Given the description of an element on the screen output the (x, y) to click on. 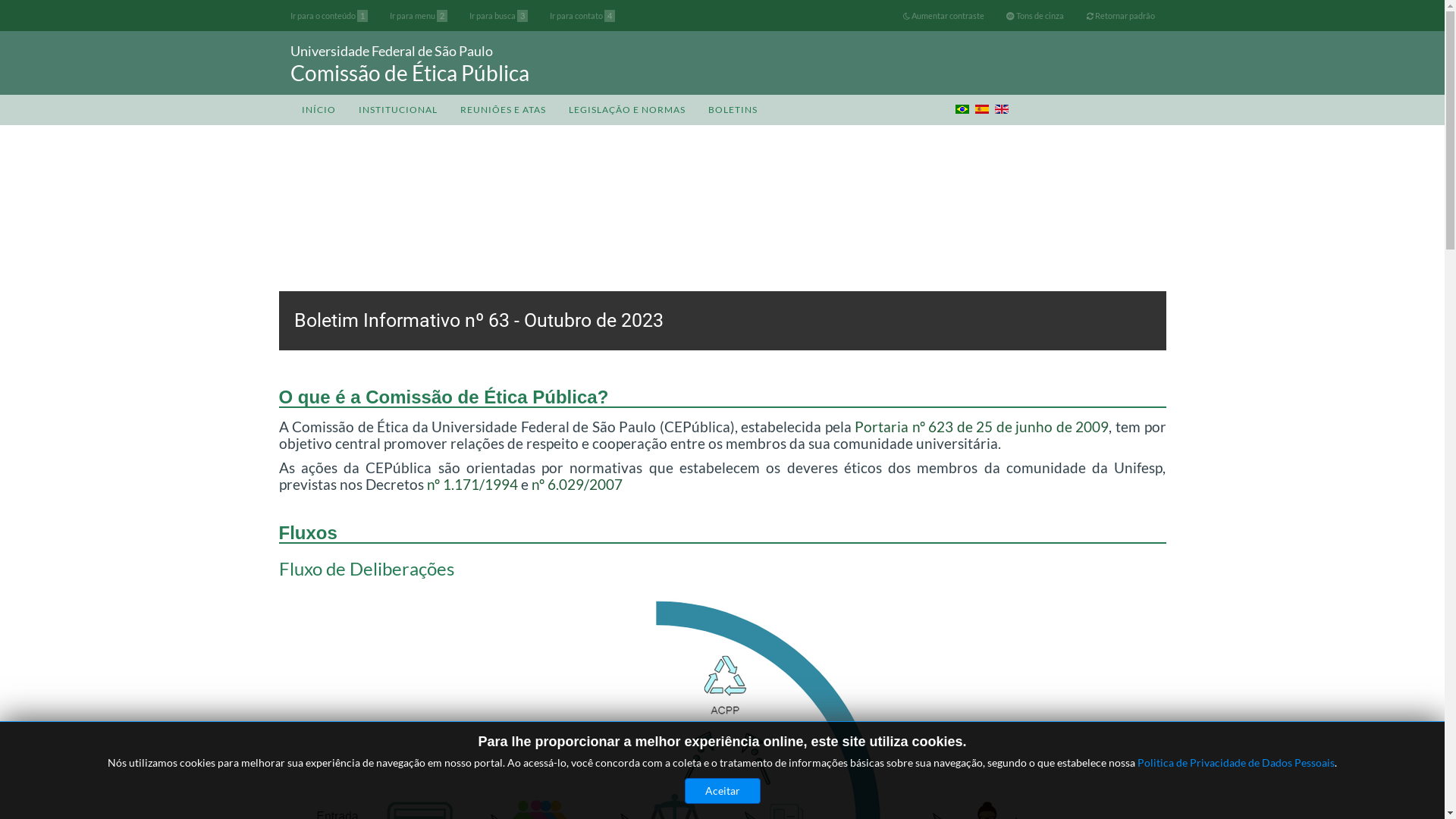
Ir para menu 2 Element type: text (418, 15)
Ir para contato 4 Element type: text (582, 15)
Aumentar contraste Element type: text (943, 15)
Tons de cinza Element type: text (1034, 15)
BOLETINS Element type: text (732, 109)
INSTITUCIONAL Element type: text (397, 109)
Ir para busca 3 Element type: text (498, 15)
Politica de Privacidade de Dados Pessoais Element type: text (1235, 762)
Espanhol (ES) Element type: hover (981, 108)
English (UK) Element type: hover (1001, 108)
